Given the description of an element on the screen output the (x, y) to click on. 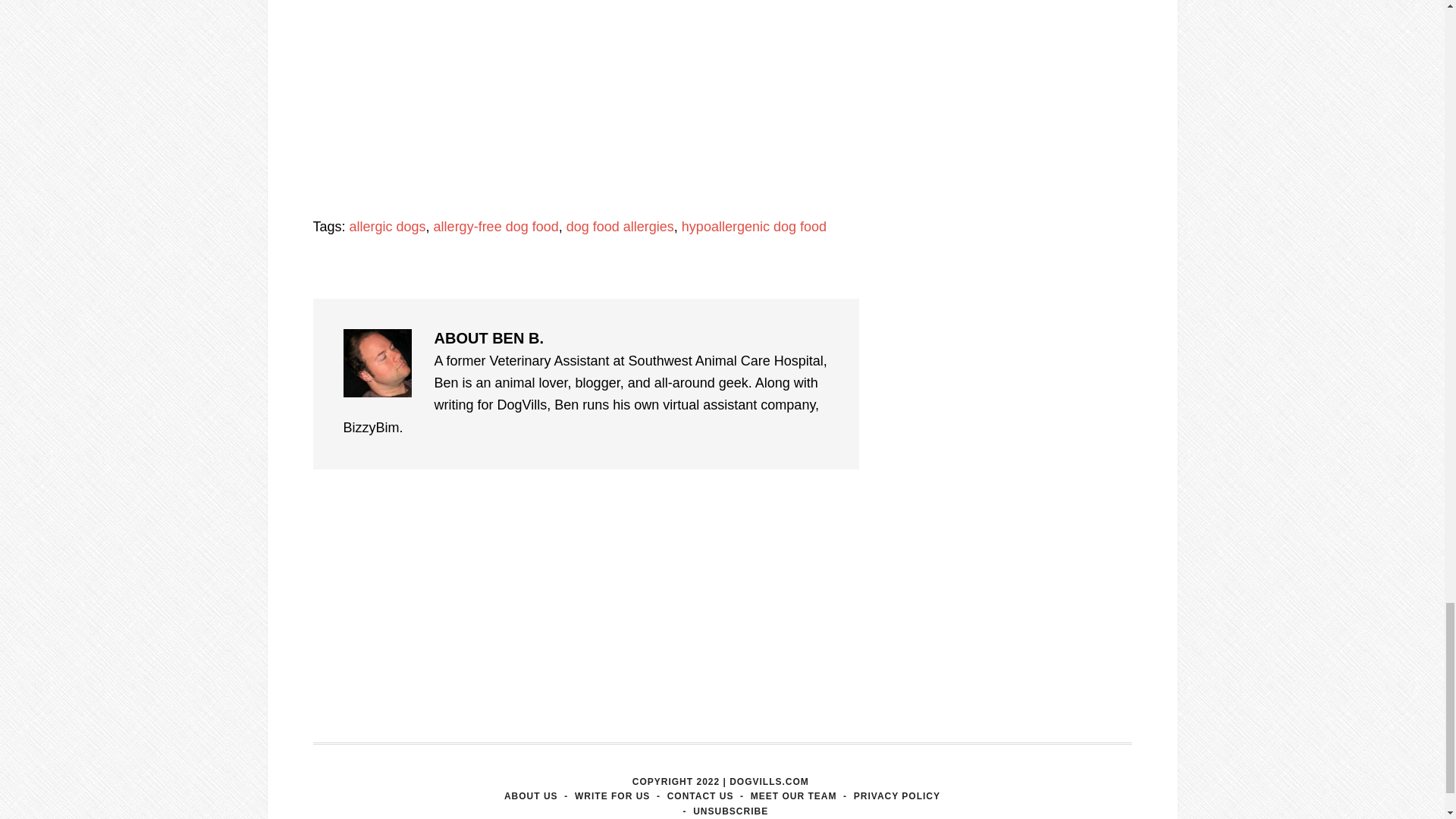
DOGVILLS.COM (769, 781)
allergic dogs (387, 226)
allergy-free dog food (496, 226)
hypoallergenic dog food (754, 226)
dog food allergies (620, 226)
